Given the description of an element on the screen output the (x, y) to click on. 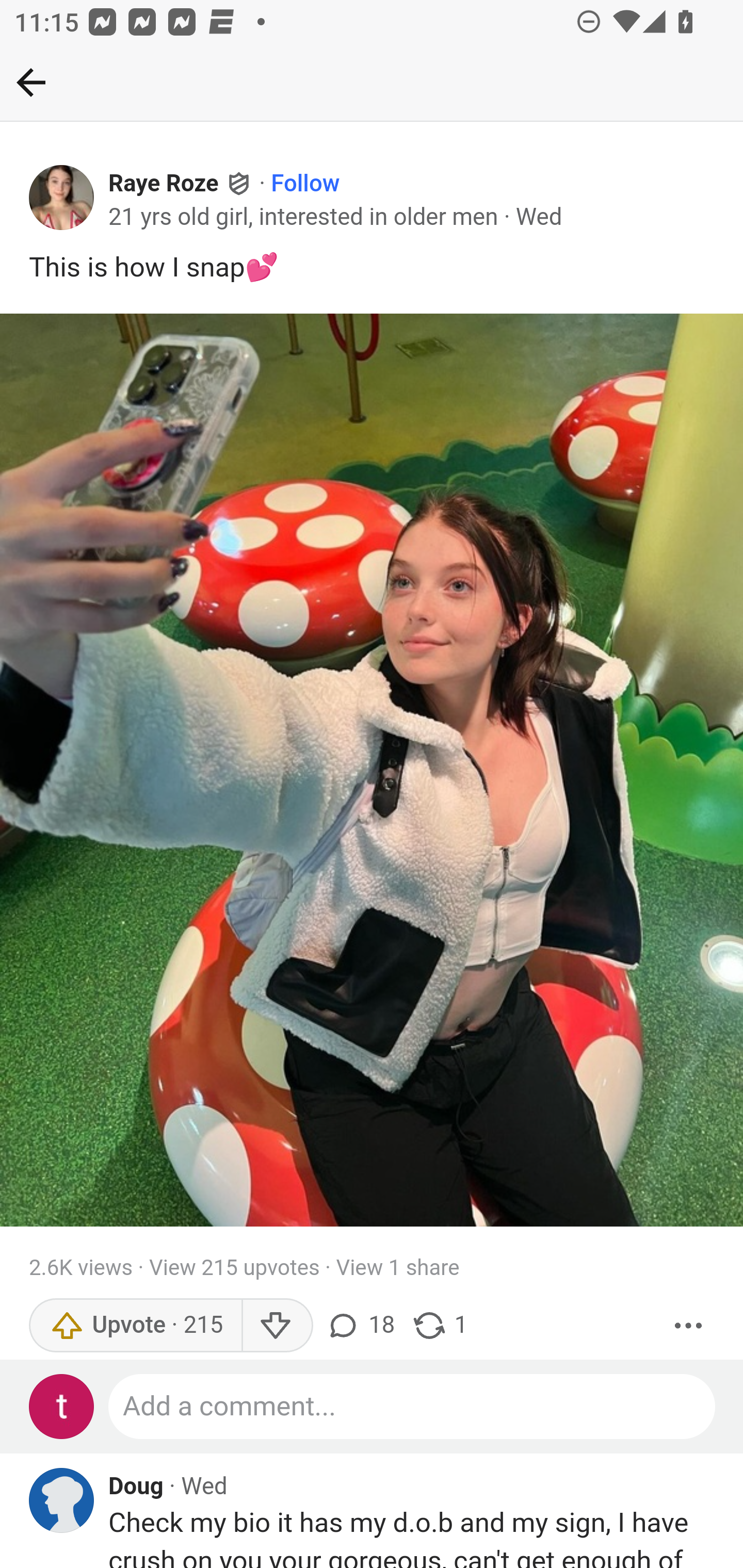
Back (30, 82)
Profile photo for Raye Roze (61, 198)
Raye Roze (164, 183)
Follow (306, 183)
Upvote (135, 1324)
Downvote (277, 1324)
18 comments (363, 1324)
1 share (439, 1324)
More (688, 1324)
Profile photo for Test Appium (61, 1406)
Add a comment... (412, 1406)
Profile photo for Doug (61, 1500)
Doug (136, 1487)
